Given the description of an element on the screen output the (x, y) to click on. 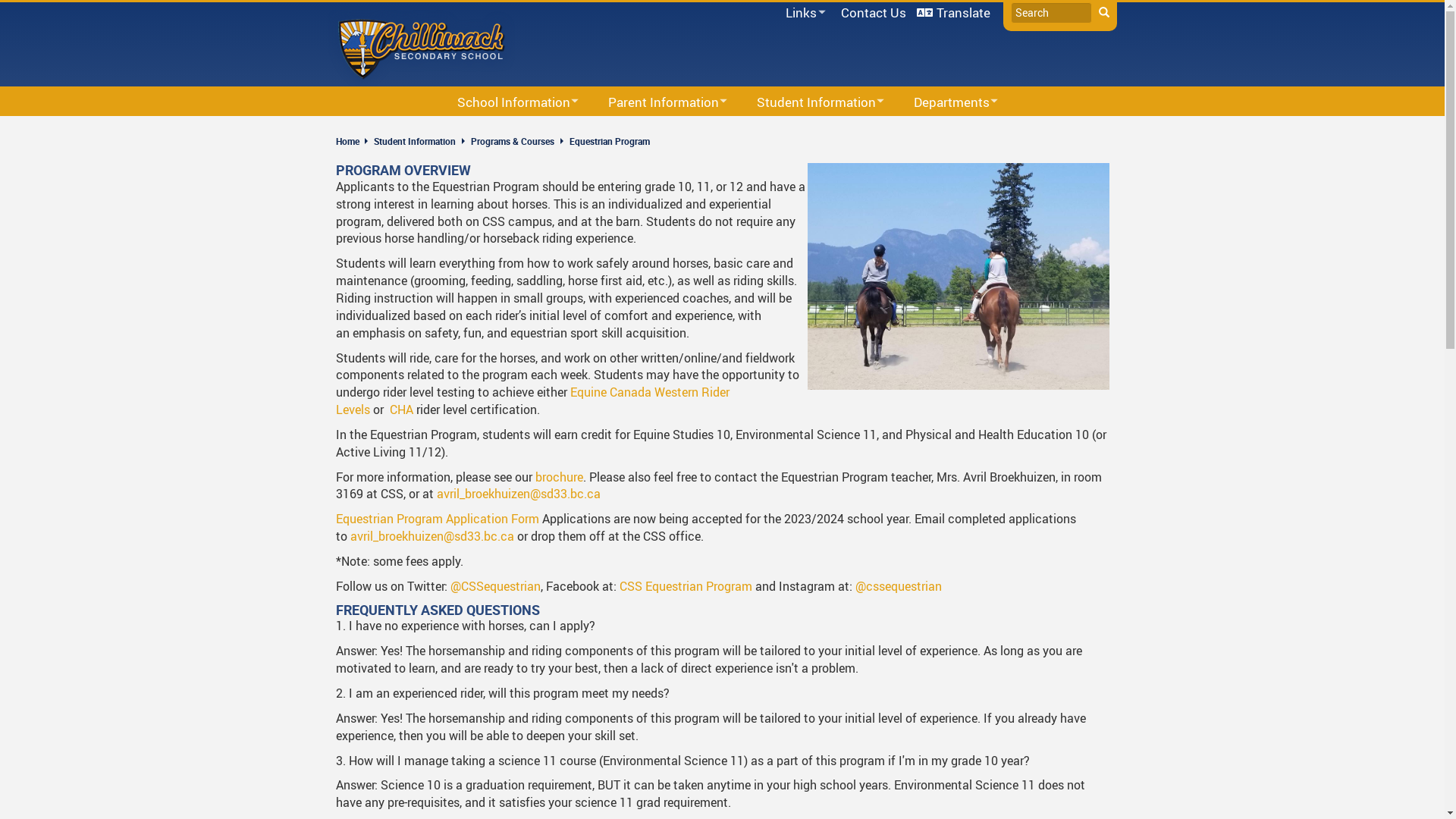
Career Education Element type: text (831, 130)
Family Accident Reimbursement Plan Element type: text (699, 130)
Equine Canada Western Rider Levels Element type: text (531, 400)
Skip to main content Element type: text (0, 0)
@cssequestrian Element type: text (898, 585)
Programs & Courses Element type: text (511, 141)
Office 365 Element type: text (784, 32)
Equestrian Program Application Form Element type: text (436, 518)
brochure Element type: text (559, 476)
Search Element type: text (1103, 12)
Calendar Element type: text (511, 130)
Contact Us Element type: text (873, 12)
CSS Equestrian Program Element type: text (684, 585)
@CSSequestrian Element type: text (495, 585)
avril_broekhuizen@sd33.bc.ca Element type: text (518, 493)
Athletics Element type: text (966, 130)
Translate Element type: text (953, 12)
Student Information Element type: text (414, 141)
Equestrian Program Element type: text (608, 141)
avril_broekhuizen@sd33.bc.ca Element type: text (432, 535)
CHA Element type: text (401, 409)
Moodle Element type: text (1069, 130)
Home Element type: text (352, 140)
